Given the description of an element on the screen output the (x, y) to click on. 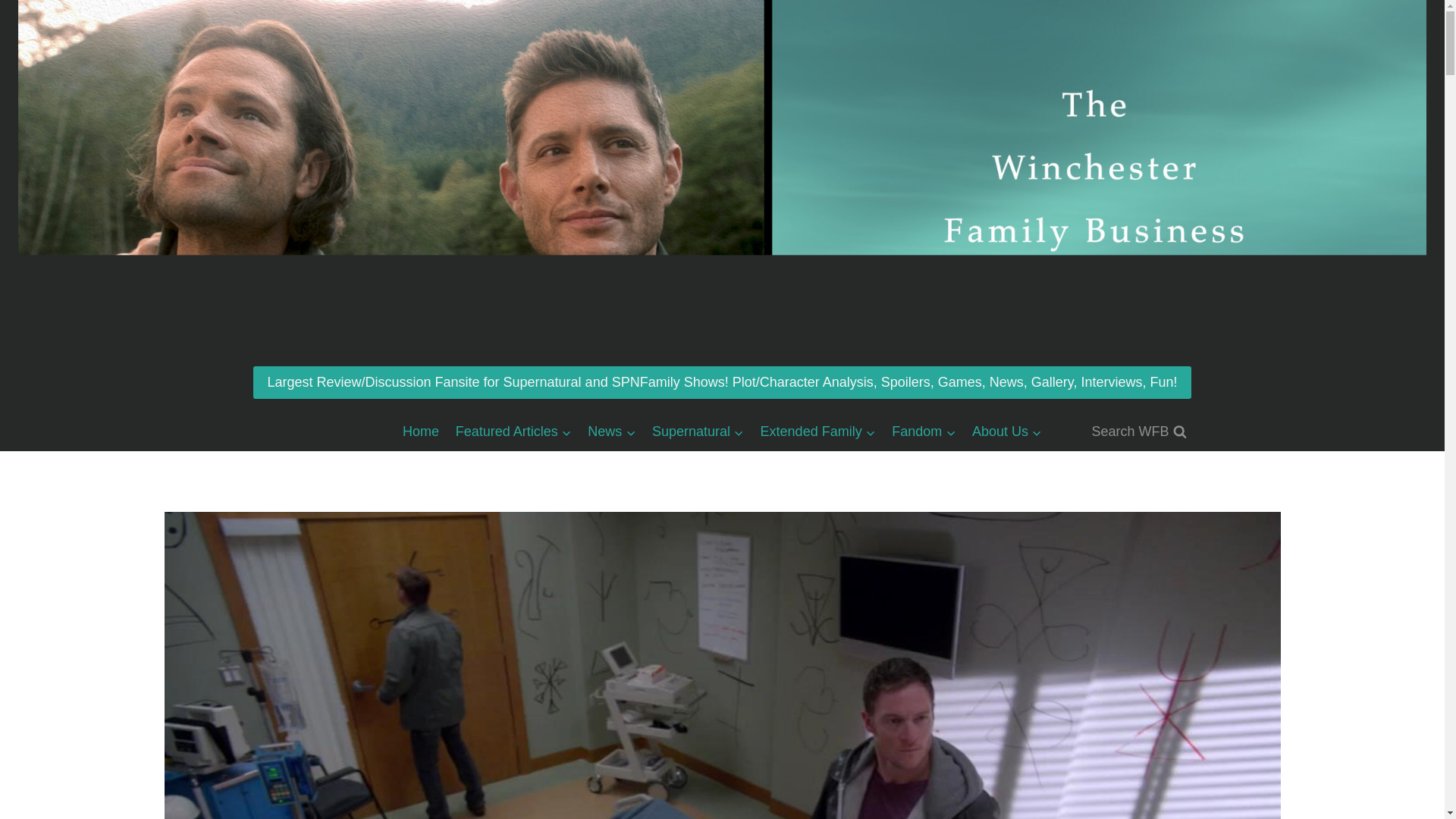
Extended Family (817, 431)
About Us (1006, 431)
Search WFB (1138, 431)
Fandom (923, 431)
Supernatural (697, 431)
Featured Articles (512, 431)
News (612, 431)
Home (420, 431)
